Given the description of an element on the screen output the (x, y) to click on. 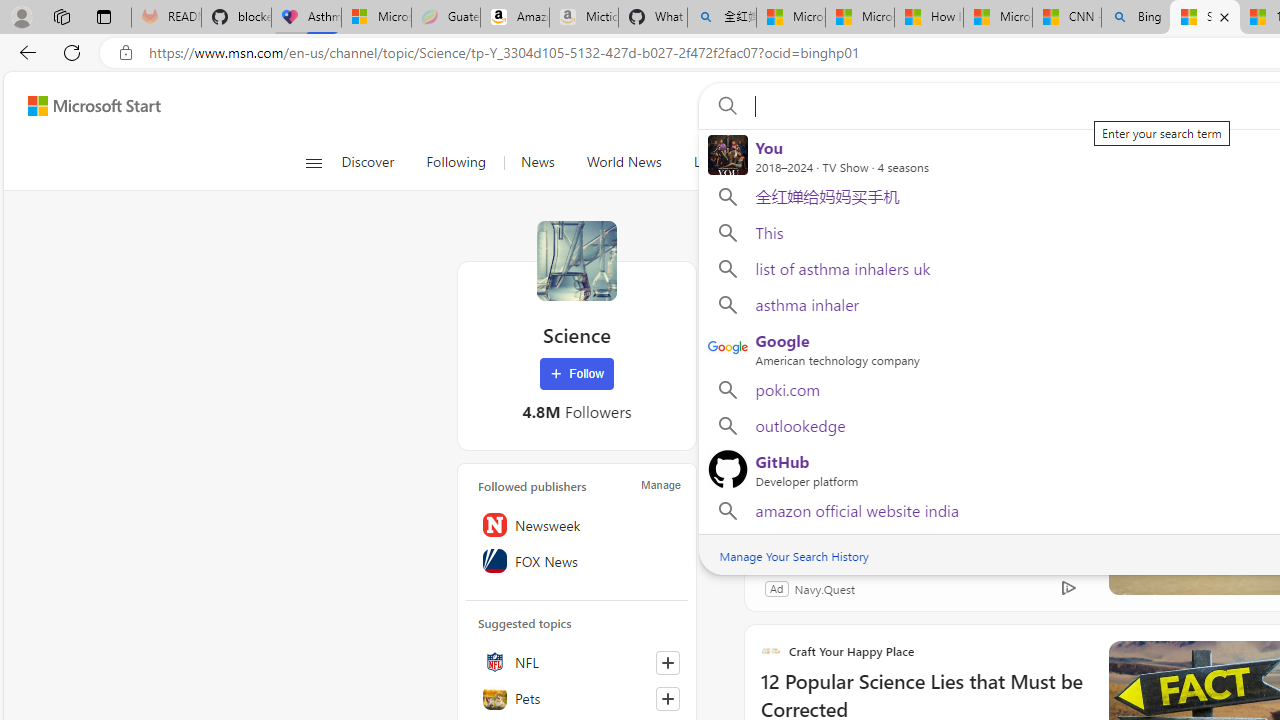
How I Got Rid of Microsoft Edge's Unnecessary Features (928, 17)
CNN - MSN (1066, 17)
